Given the description of an element on the screen output the (x, y) to click on. 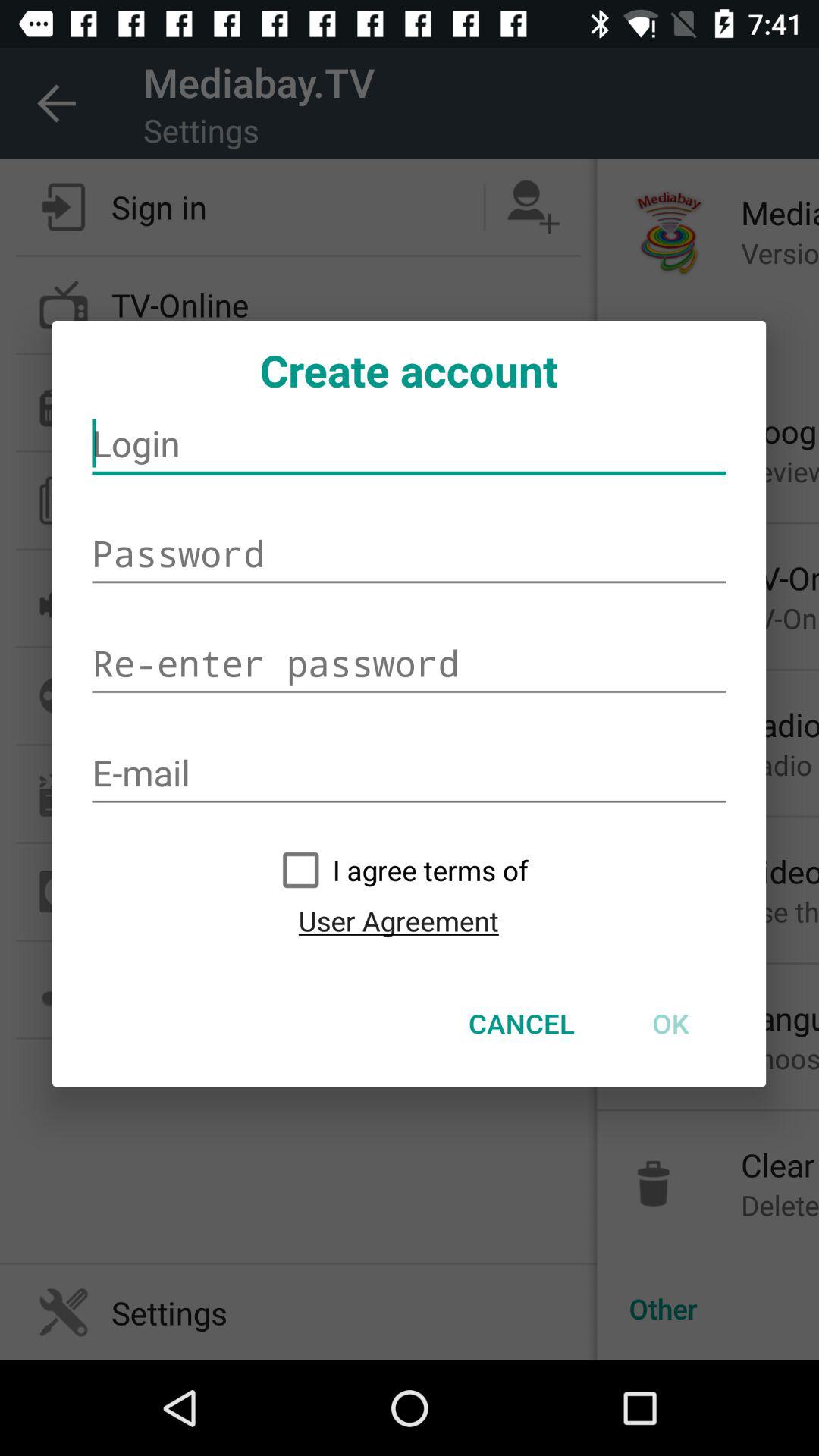
swipe to the ok item (670, 1022)
